Given the description of an element on the screen output the (x, y) to click on. 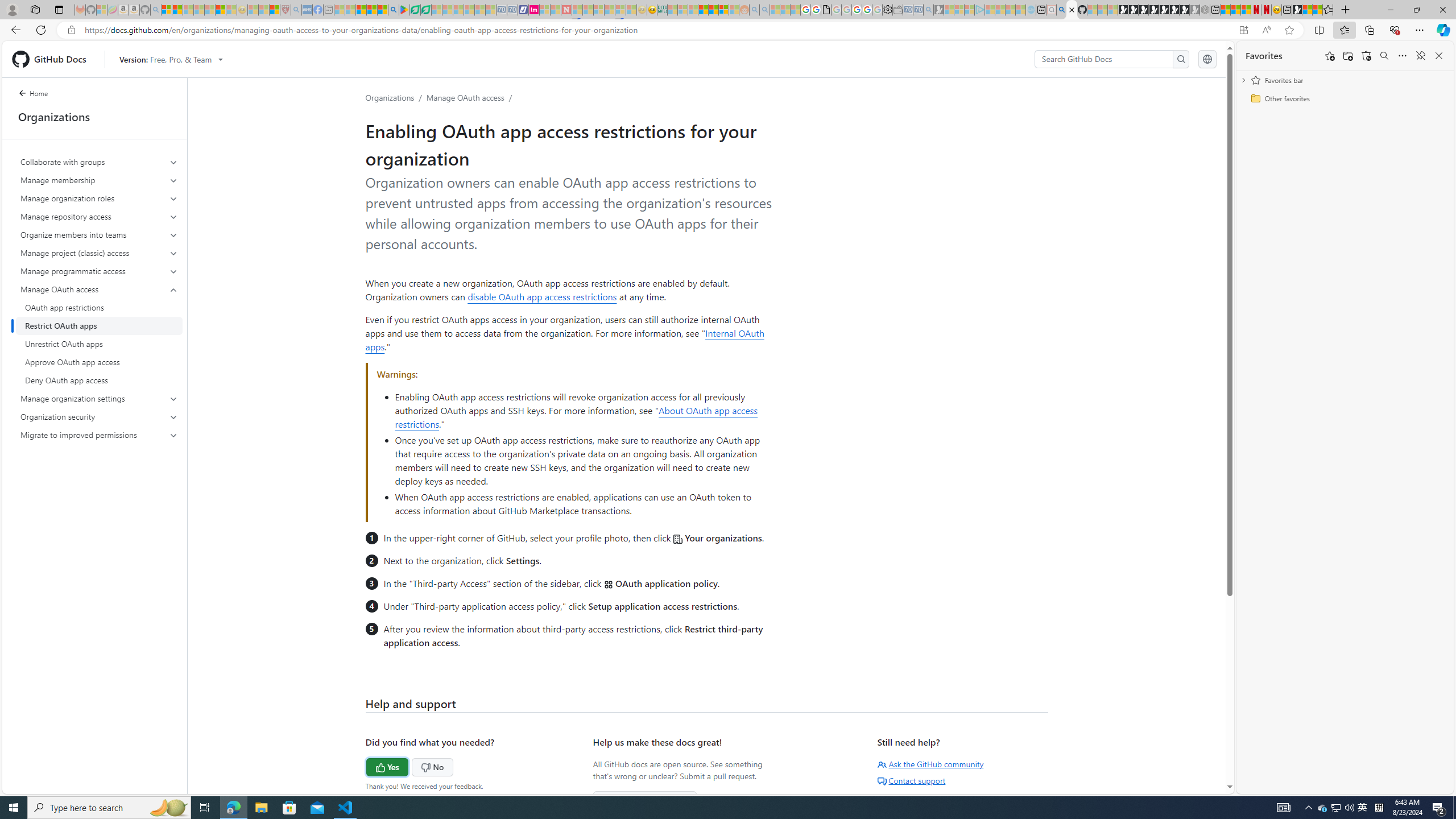
Latest Politics News & Archive | Newsweek.com - Sleeping (566, 9)
Manage organization settings (99, 398)
Wildlife - MSN (1307, 9)
Browser essentials (1394, 29)
Restore (1416, 9)
Microsoft Start (360, 9)
App bar (728, 29)
Play Free Online Games | Games from Microsoft Start (1122, 9)
Tab actions menu (58, 9)
GitHub Docs (53, 58)
